Given the description of an element on the screen output the (x, y) to click on. 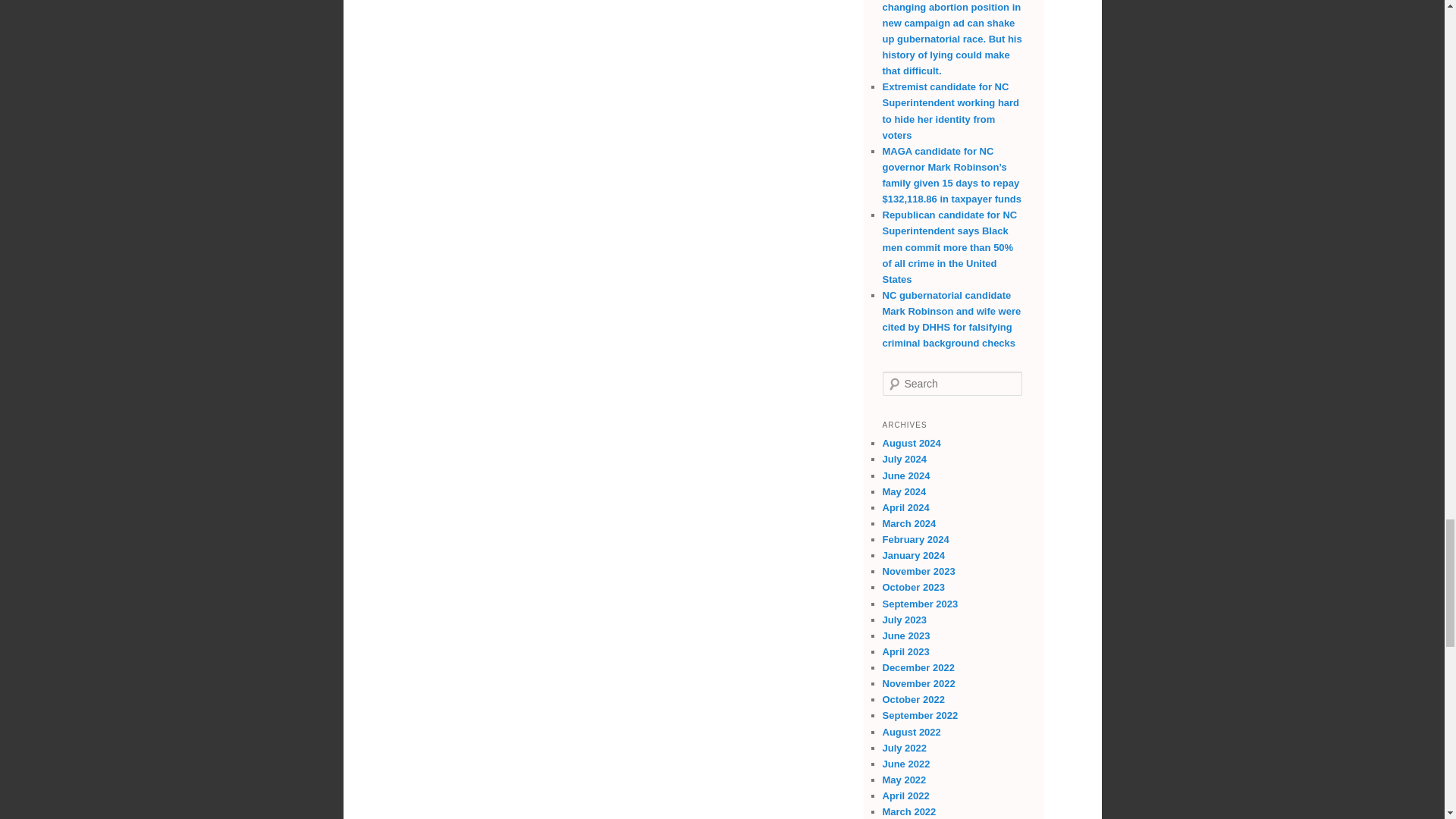
May 2024 (904, 491)
August 2024 (911, 442)
February 2024 (915, 539)
June 2024 (906, 475)
July 2024 (904, 459)
April 2024 (906, 507)
March 2024 (909, 523)
